Given the description of an element on the screen output the (x, y) to click on. 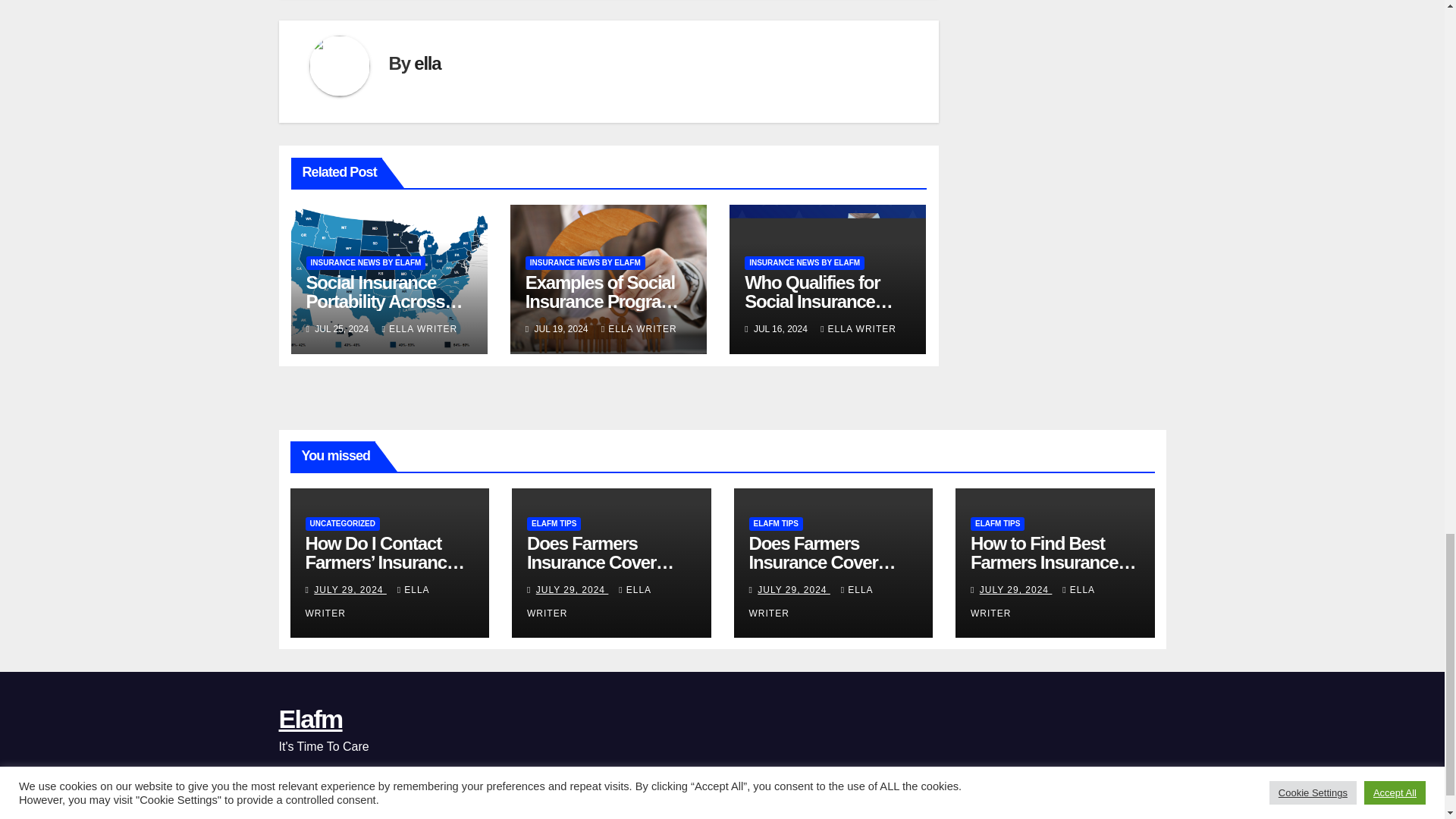
ella (427, 63)
ELLA WRITER (639, 328)
Home (808, 815)
INSURANCE NEWS BY ELAFM (585, 263)
Permalink to: Does Farmers Insurance Cover Florida? (822, 562)
INSURANCE NEWS BY ELAFM (365, 263)
Examples of Social Insurance Programs You Should Know About (605, 310)
INSURANCE NEWS BY ELAFM (804, 263)
ELLA WRITER (419, 328)
